Given the description of an element on the screen output the (x, y) to click on. 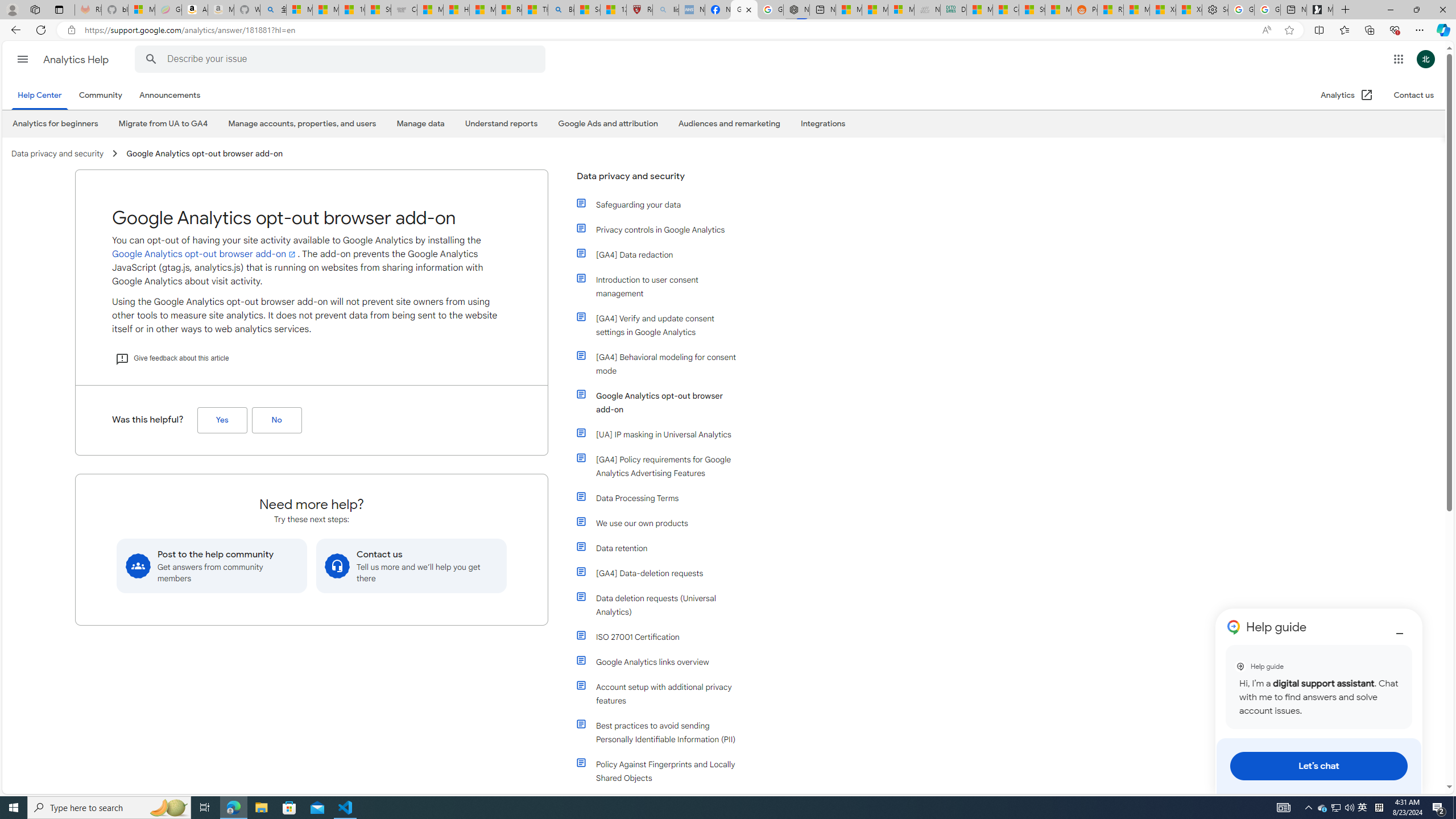
Describe your issue (340, 58)
Announcements (169, 94)
Recipes - MSN (508, 9)
Combat Siege (403, 9)
How I Got Rid of Microsoft Edge's Unnecessary Features (456, 9)
Main menu (22, 58)
Safeguarding your data (658, 204)
Google Ads and attribution (607, 123)
Introduction to user consent management (658, 286)
Policy Against Fingerprints and Locally Shared Objects (664, 770)
